Given the description of an element on the screen output the (x, y) to click on. 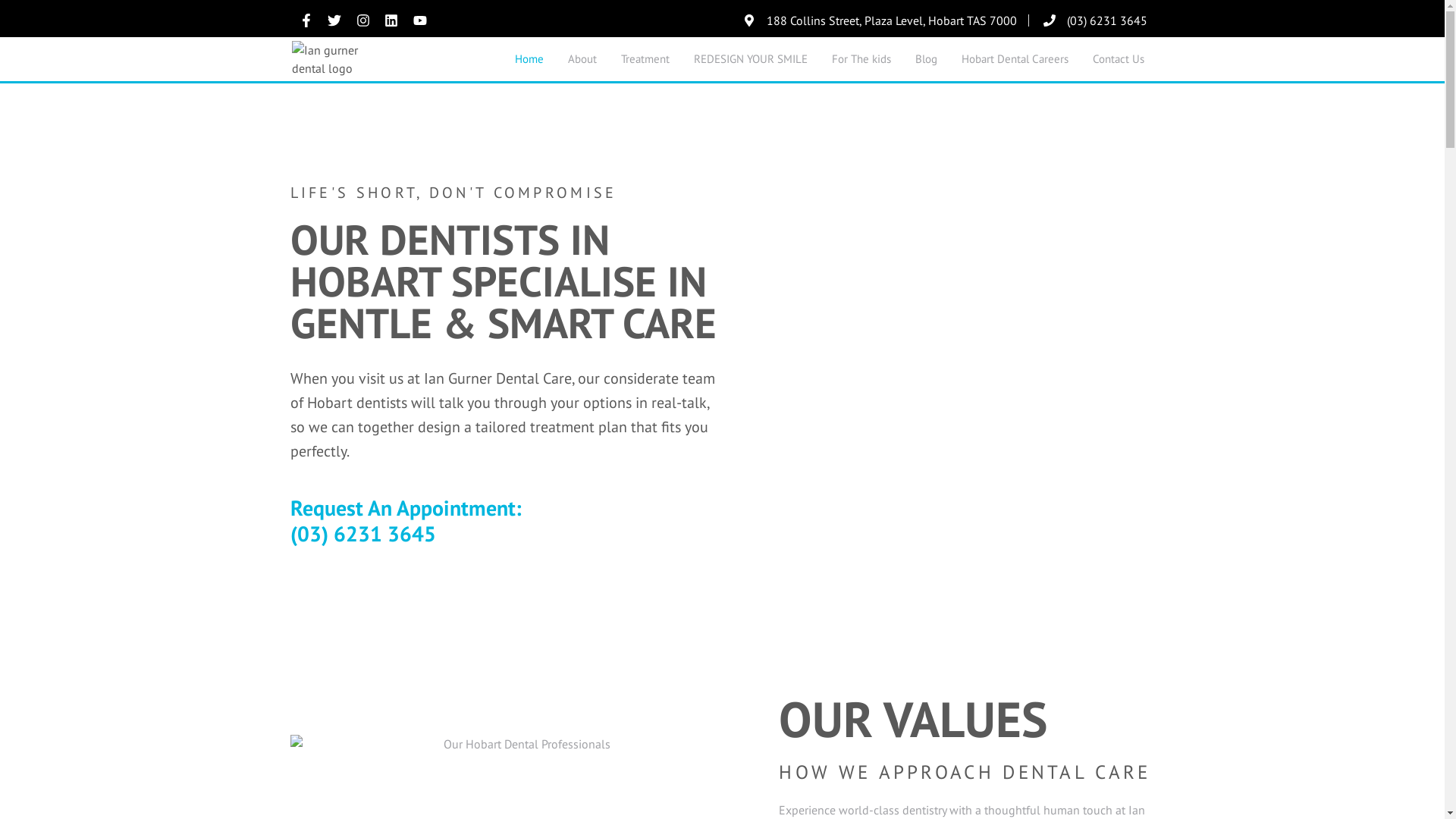
Home Element type: text (528, 58)
(03) 6231 3645 Element type: text (362, 533)
For The kids Element type: text (861, 58)
About Element type: text (581, 58)
Blog Element type: text (926, 58)
REDESIGN YOUR SMILE Element type: text (750, 58)
(03) 6231 3645 Element type: text (1093, 20)
Hobart Dental Careers Element type: text (1014, 58)
Contact Us Element type: text (1118, 58)
Treatment Element type: text (644, 58)
